Given the description of an element on the screen output the (x, y) to click on. 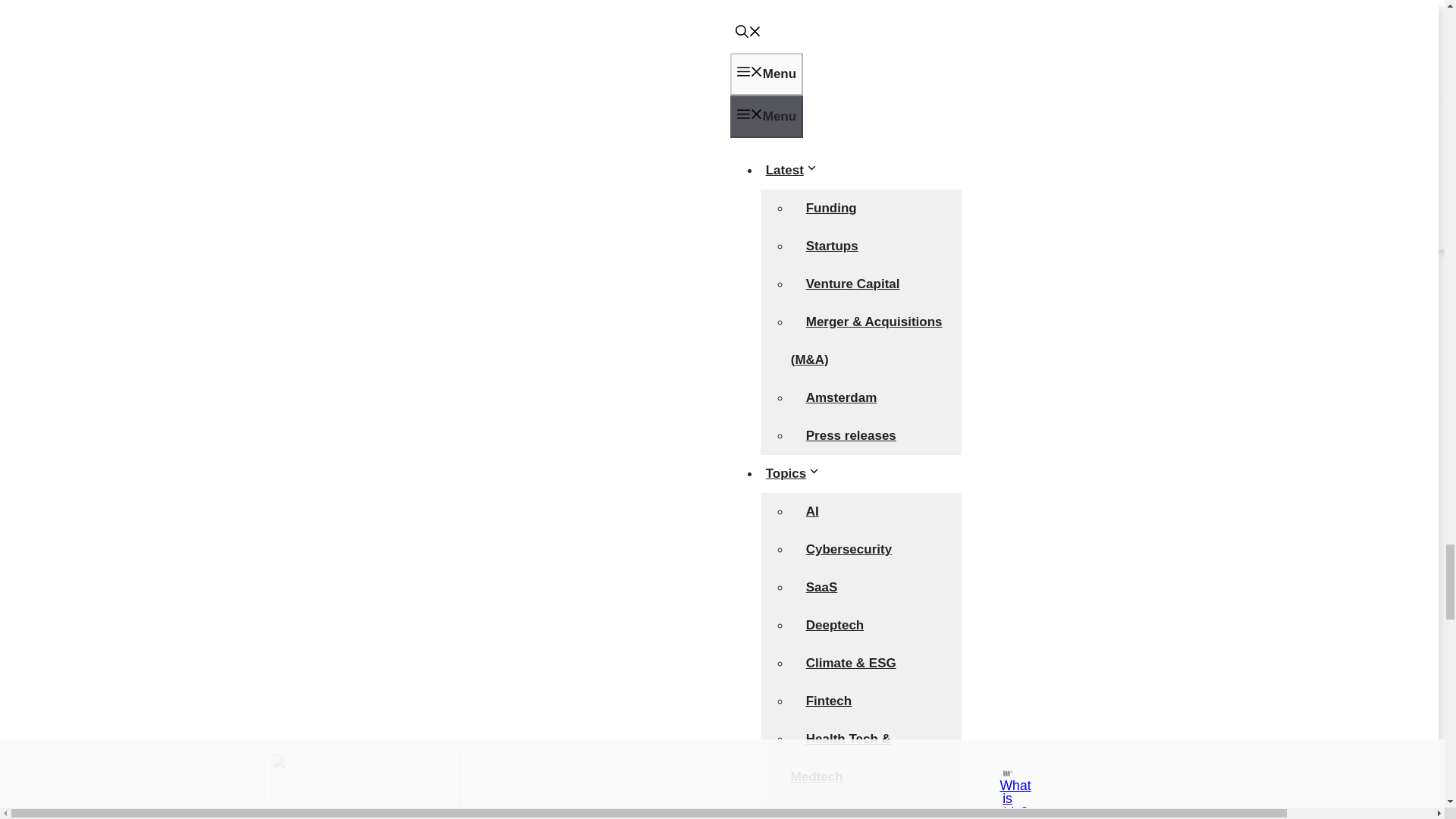
Silicon Canals logo white SC (372, 443)
cropped-SiliconCanals-logo.png (491, 678)
